Given the description of an element on the screen output the (x, y) to click on. 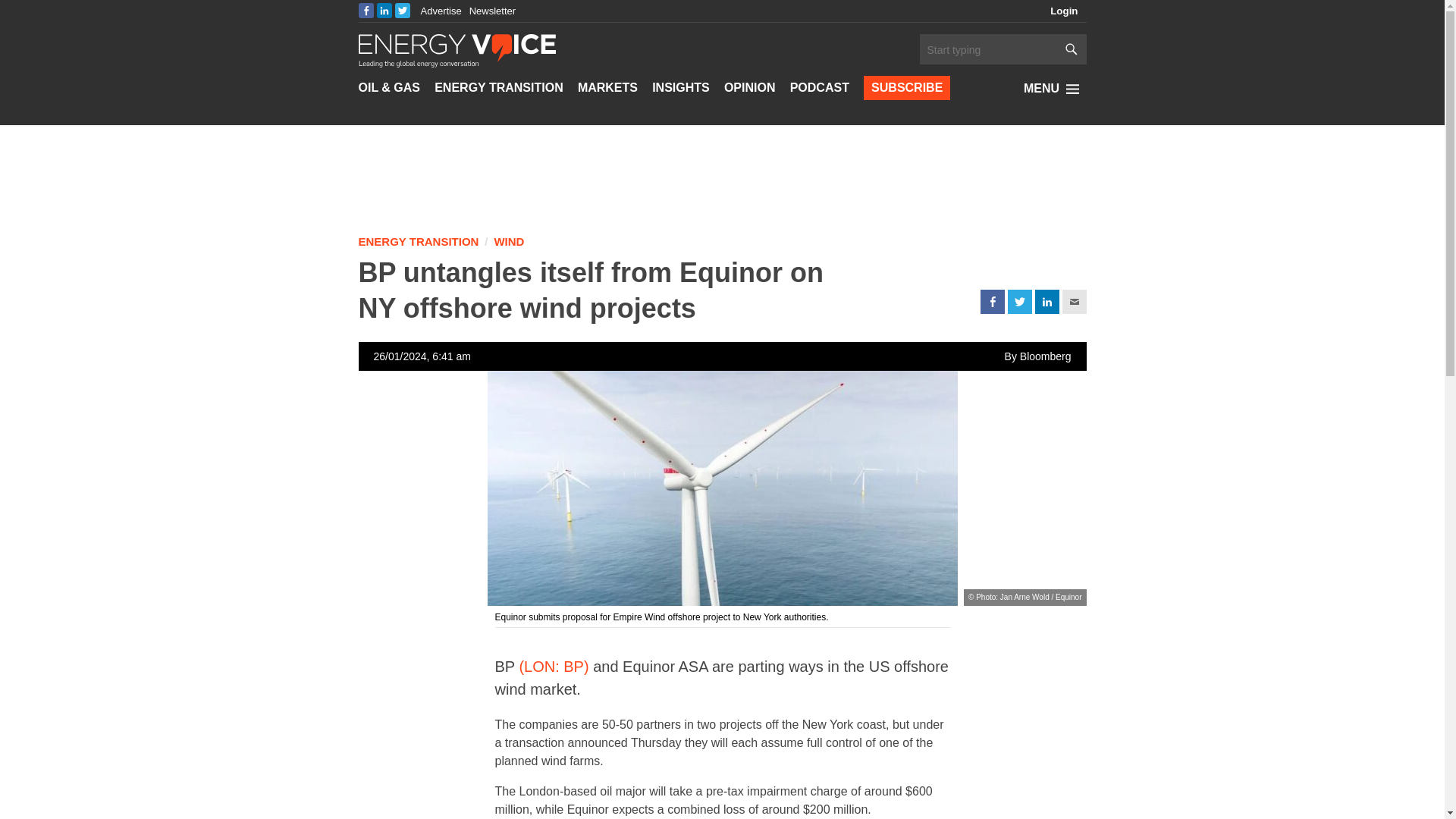
Twitter (1018, 301)
Facebook (365, 10)
Facebook (991, 301)
MARKETS (607, 87)
Newsletter (491, 11)
Linkedin (1045, 301)
Twitter (401, 10)
Advertise (440, 11)
Energy Voice (456, 49)
MENU (1054, 87)
